Given the description of an element on the screen output the (x, y) to click on. 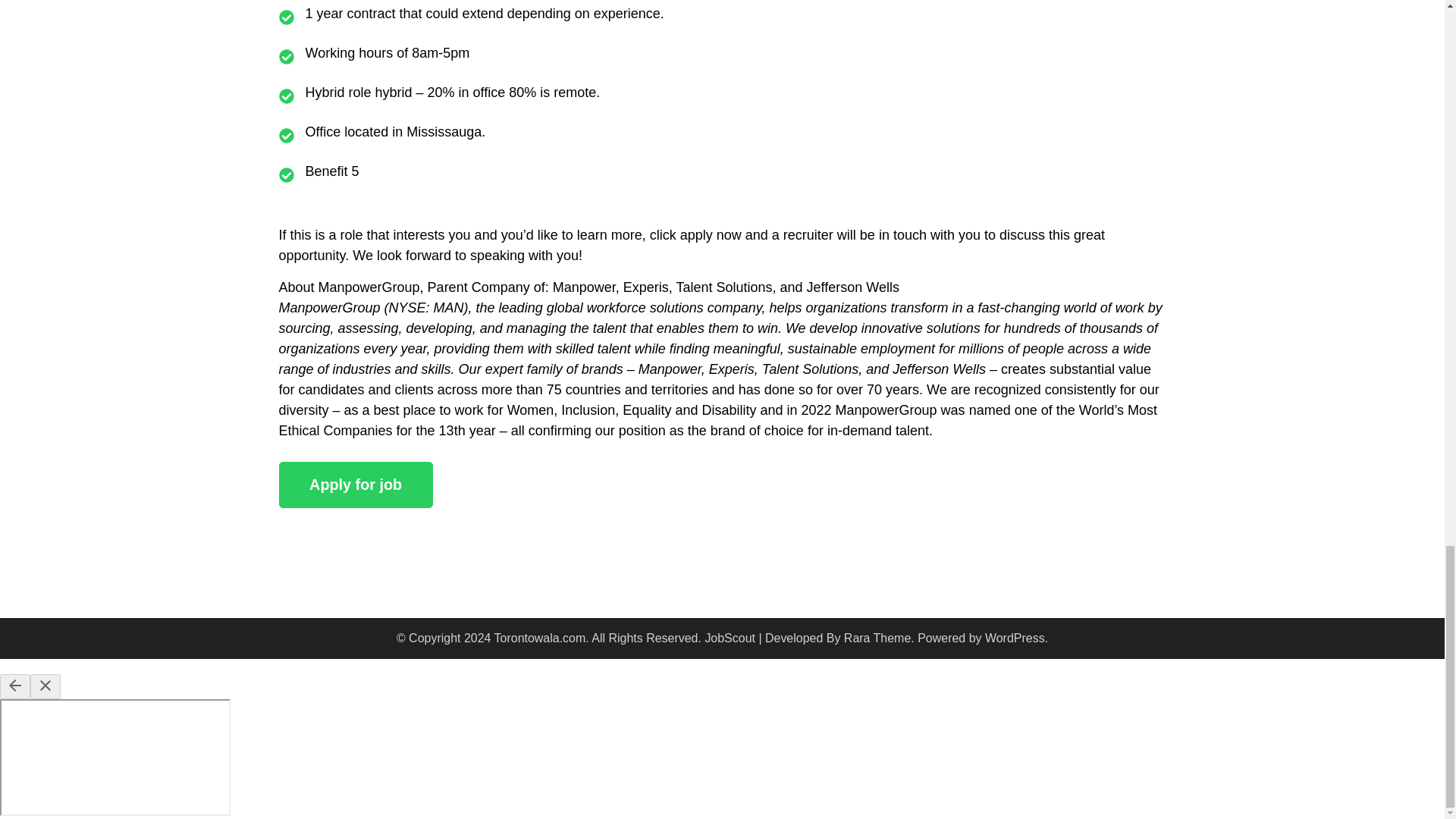
Rara Theme (877, 637)
WordPress (1015, 637)
Apply for job (355, 484)
Torontowala.com (540, 637)
